Given the description of an element on the screen output the (x, y) to click on. 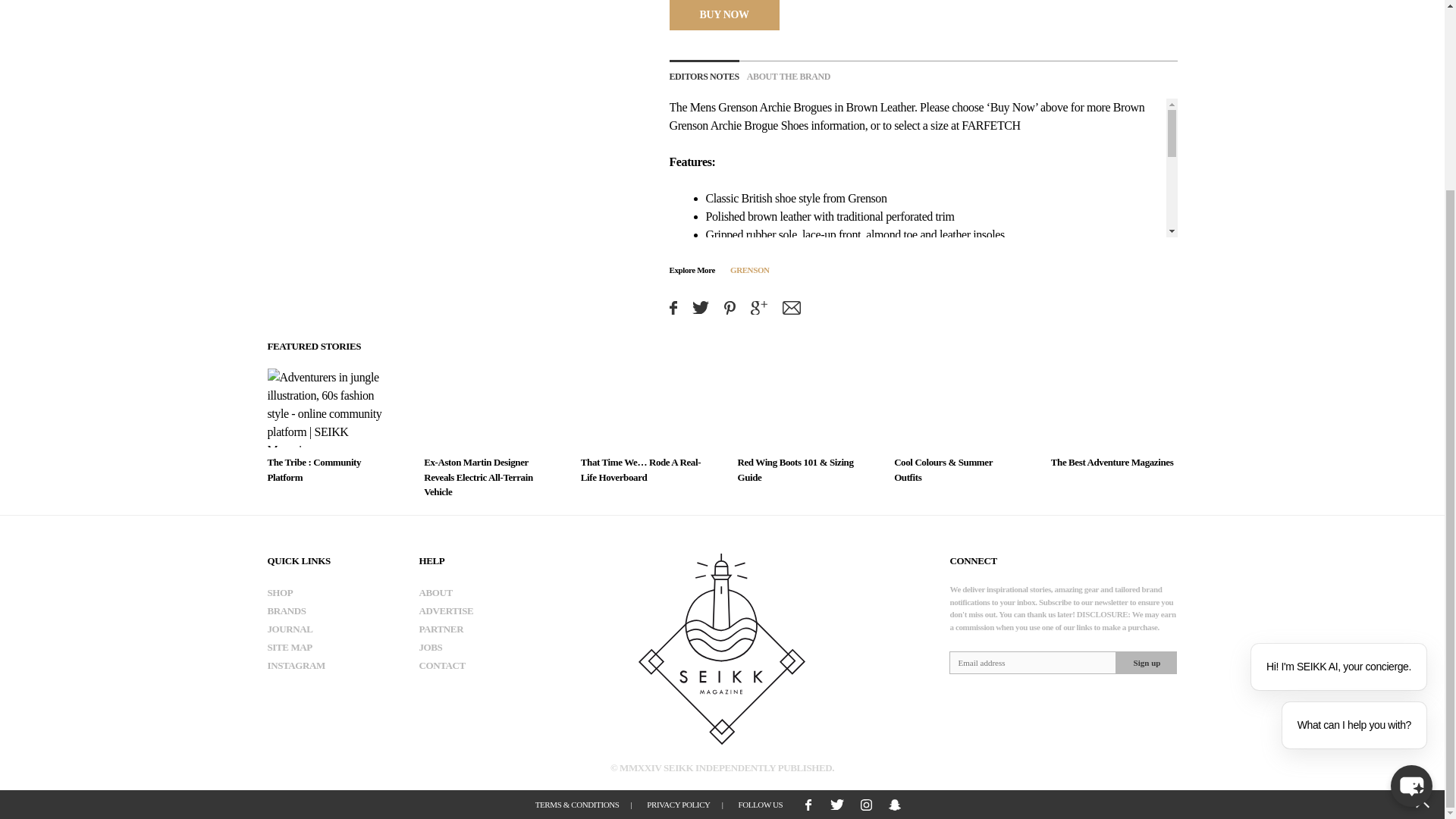
BUY NOW (723, 14)
GRENSON (750, 268)
Grenson (737, 106)
